Given the description of an element on the screen output the (x, y) to click on. 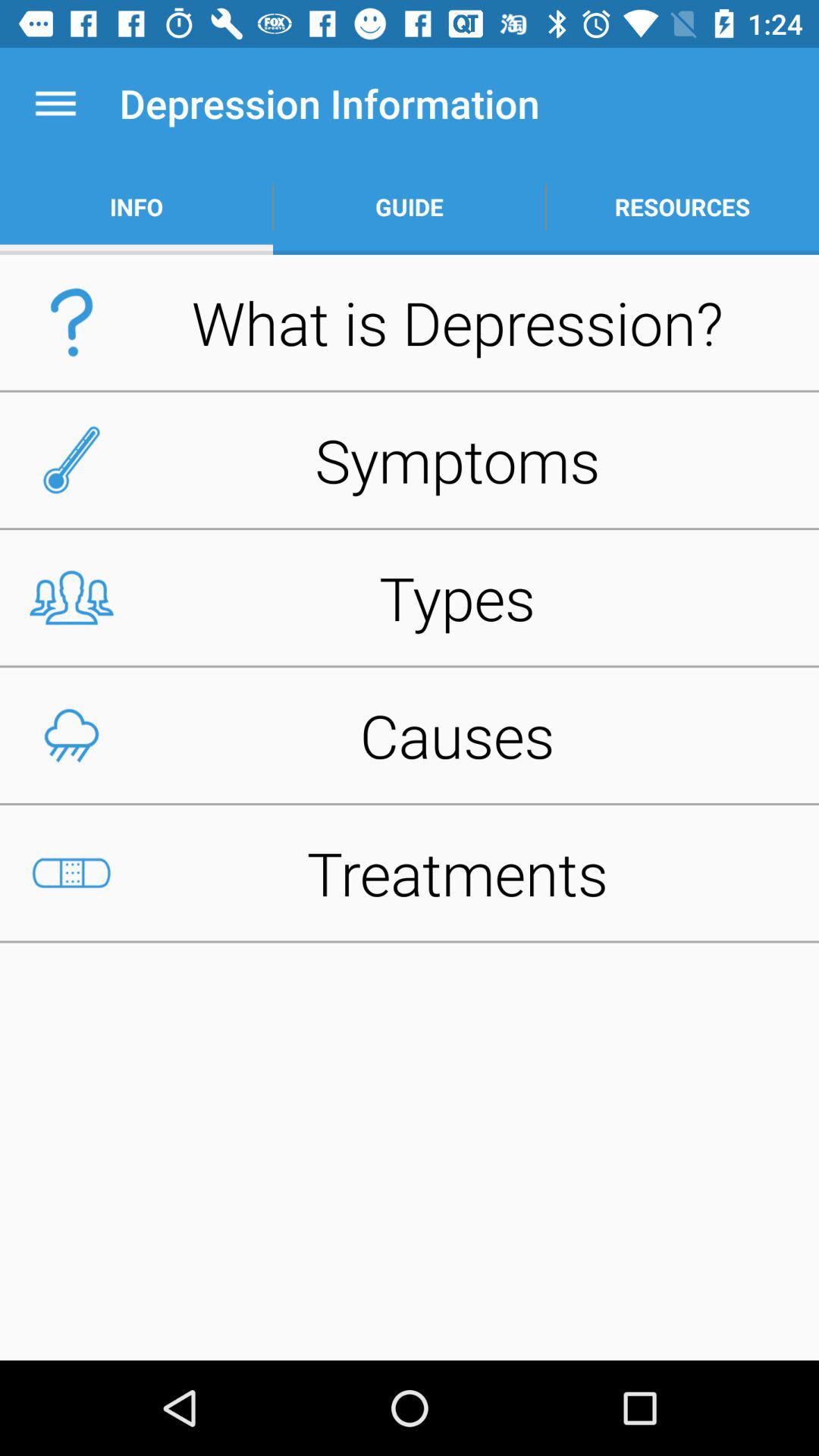
turn off the icon above what is depression? icon (409, 206)
